Given the description of an element on the screen output the (x, y) to click on. 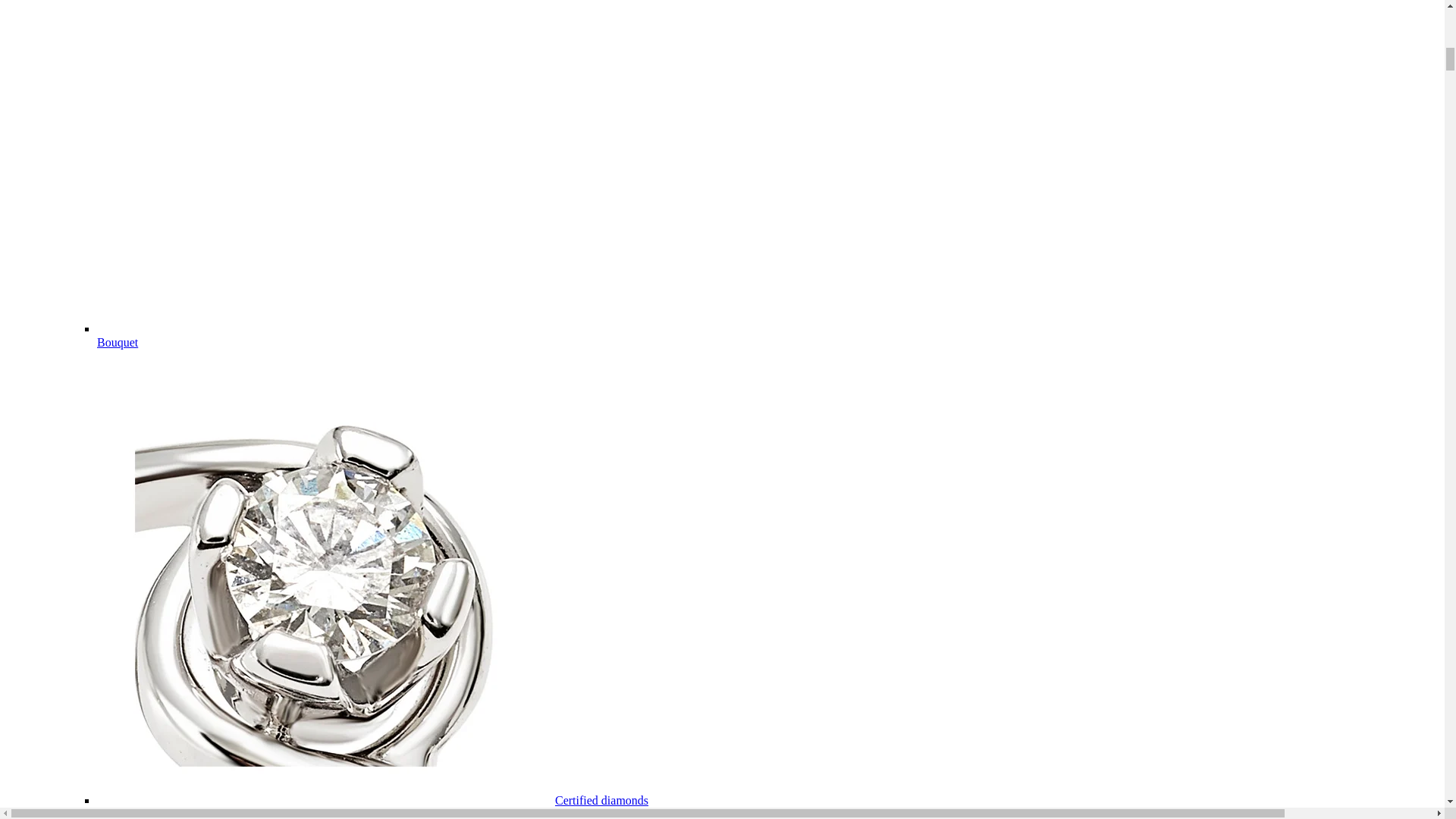
Certified diamonds (600, 799)
Bouquet (117, 341)
